Given the description of an element on the screen output the (x, y) to click on. 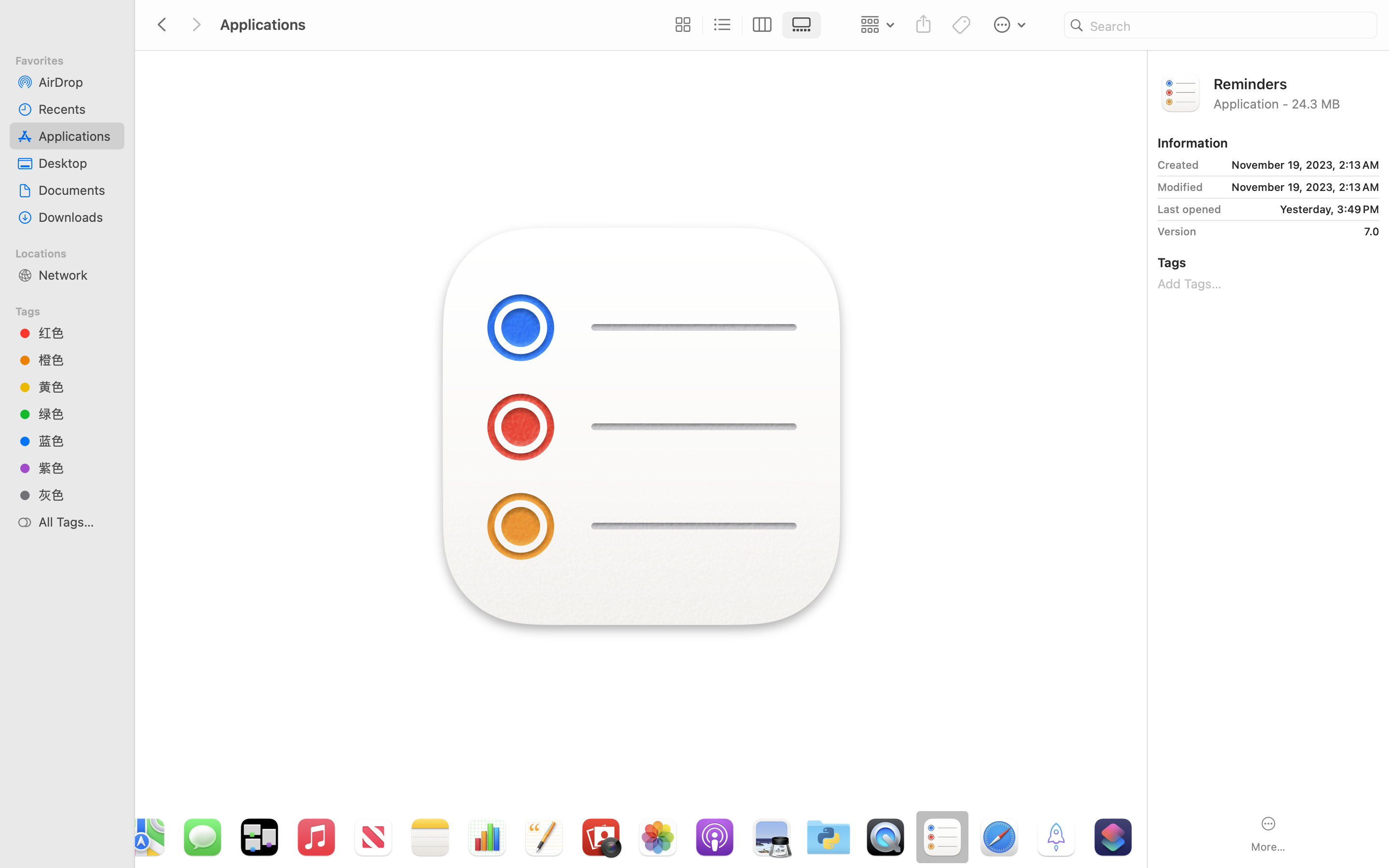
Yesterday, 3:49 PM Element type: AXStaticText (1303, 209)
Version Element type: AXStaticText (1176, 231)
